Given the description of an element on the screen output the (x, y) to click on. 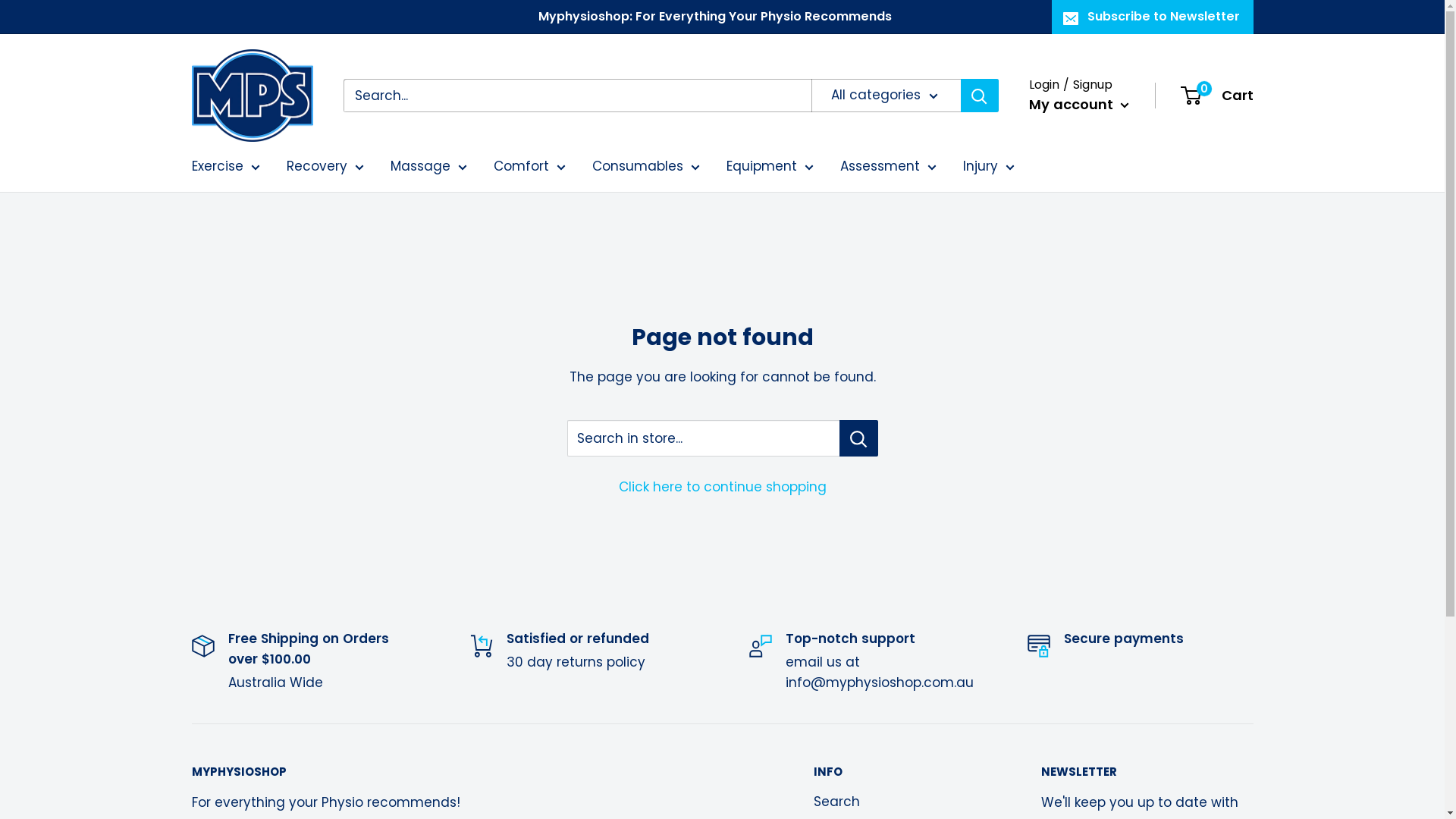
Exercise Element type: text (225, 166)
Consumables Element type: text (645, 166)
Injury Element type: text (988, 166)
Subscribe to Newsletter Element type: text (1151, 16)
MYPHYSIOSHOP Element type: text (475, 771)
Massage Element type: text (427, 166)
Equipment Element type: text (769, 166)
Click here to continue shopping Element type: text (722, 486)
Comfort Element type: text (528, 166)
0
Cart Element type: text (1216, 95)
Search Element type: text (899, 802)
Recovery Element type: text (325, 166)
Assessment Element type: text (888, 166)
My account Element type: text (1078, 104)
INFO Element type: text (899, 771)
